Given the description of an element on the screen output the (x, y) to click on. 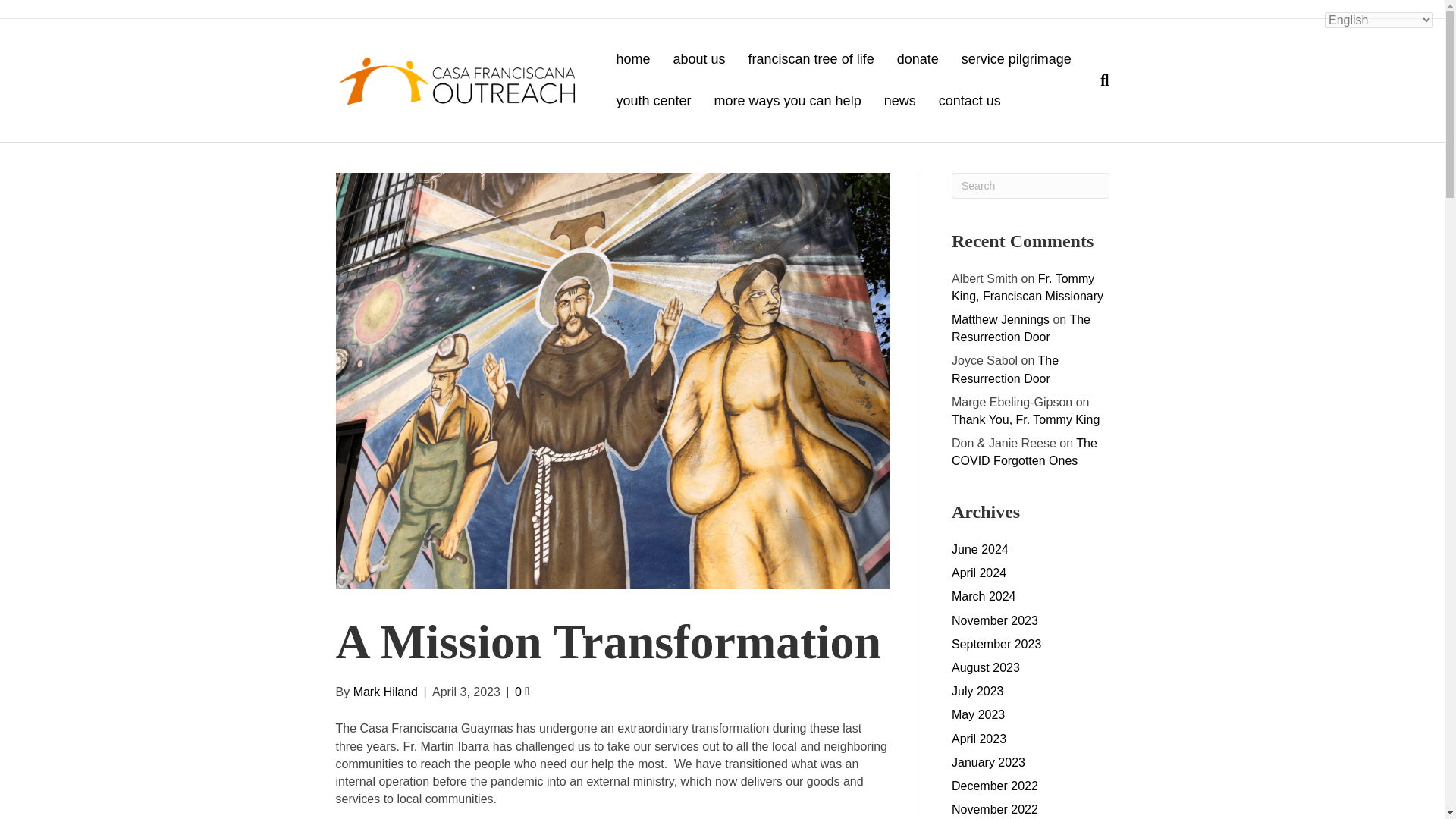
service pilgrimage (1016, 59)
Thank You, Fr. Tommy King (1025, 419)
Fr. Tommy King, Franciscan Missionary (1027, 286)
The COVID Forgotten Ones (1024, 451)
more ways you can help (787, 101)
youth center (652, 101)
April 2024 (979, 572)
news (899, 101)
0 (522, 691)
contact us (969, 101)
about us (699, 59)
Matthew Jennings (1000, 318)
The Resurrection Door (1021, 327)
Mark Hiland (385, 691)
November 2023 (995, 620)
